Given the description of an element on the screen output the (x, y) to click on. 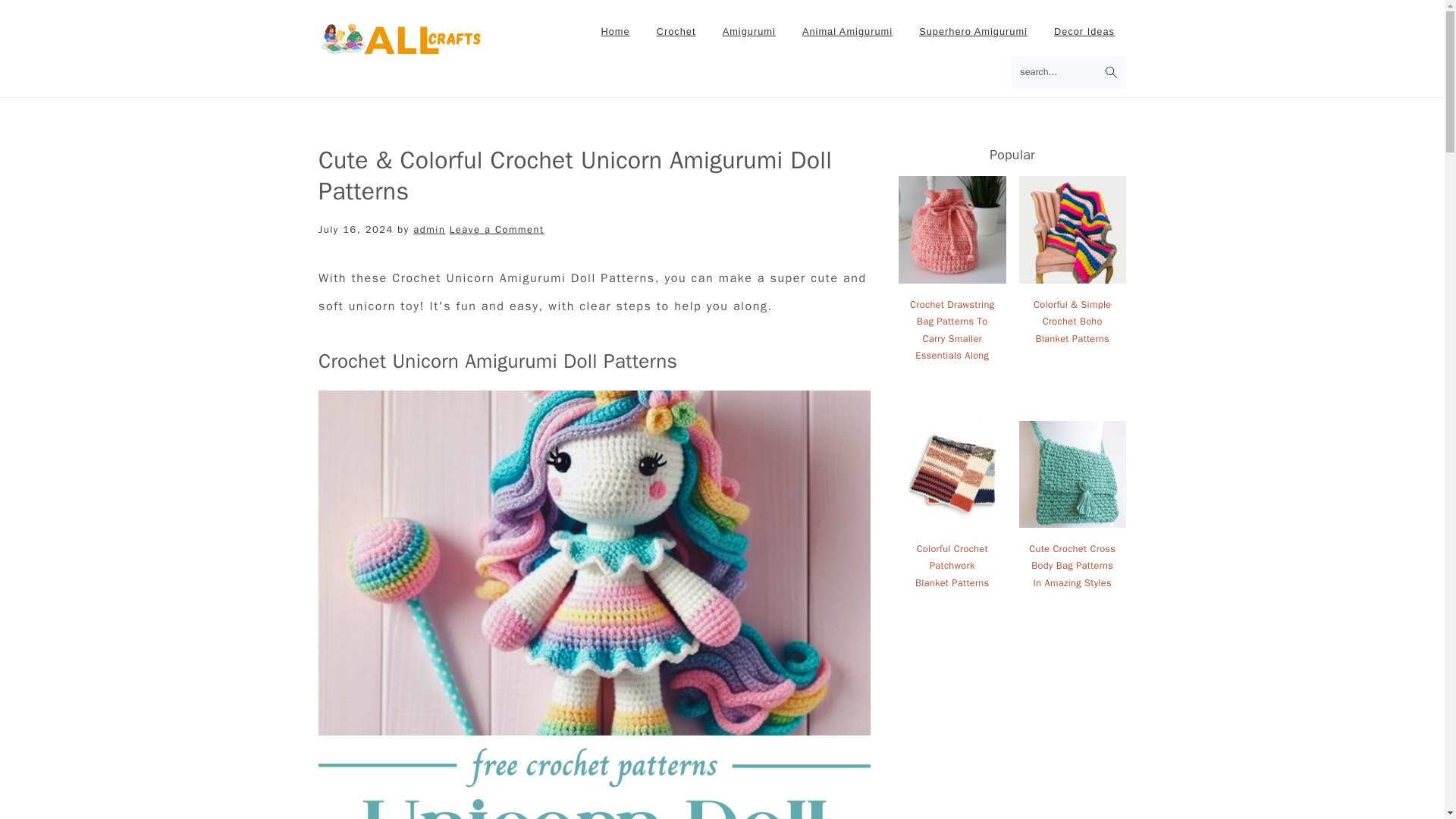
Superhero Amigurumi (973, 32)
All Crafts (399, 52)
Crochet (676, 32)
Leave a Comment (496, 229)
Animal Amigurumi (847, 32)
Decor Ideas (1083, 32)
Amigurumi (749, 32)
